Given the description of an element on the screen output the (x, y) to click on. 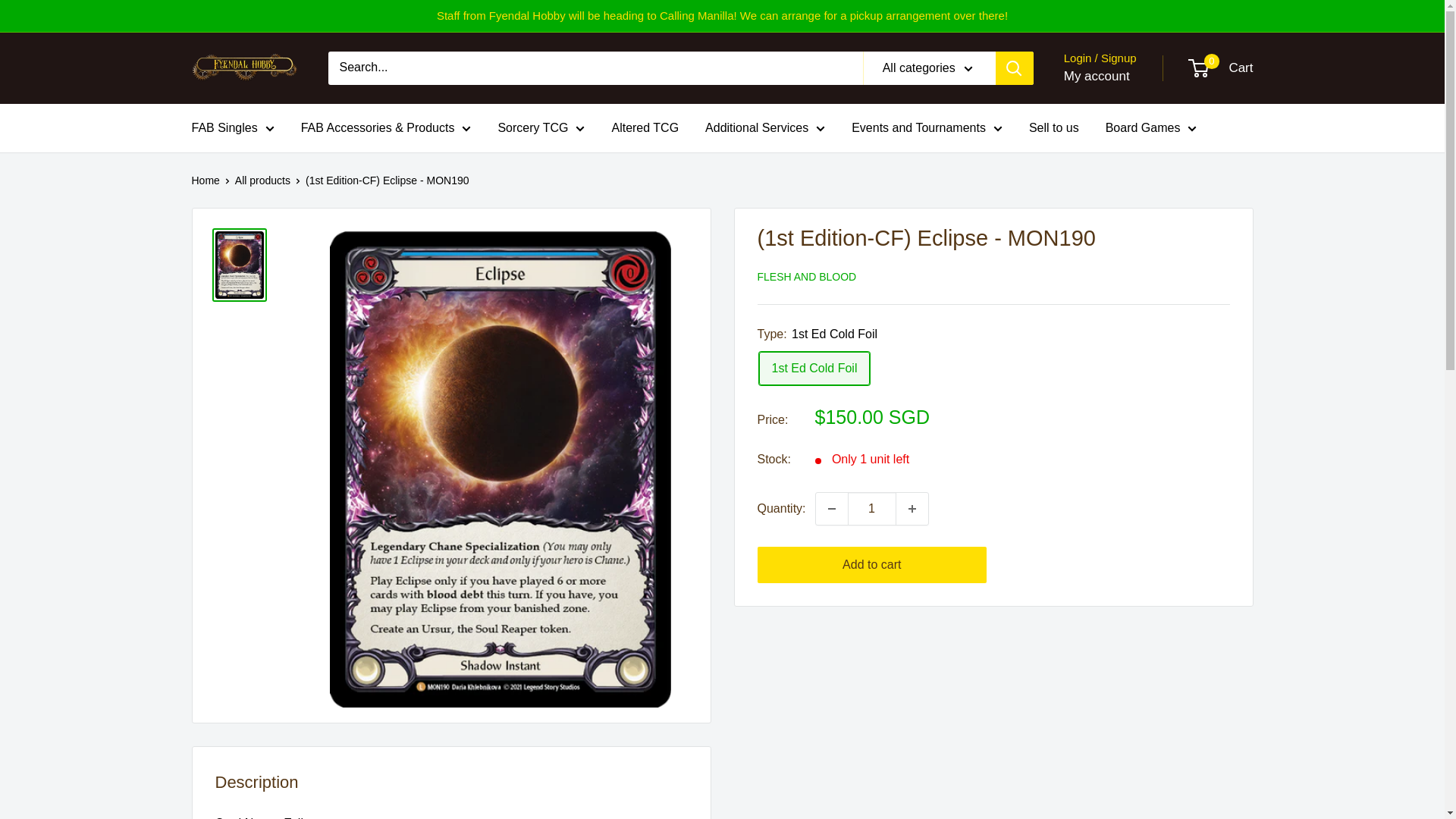
Increase quantity by 1 (912, 508)
1st Ed Cold Foil (813, 368)
1 (871, 508)
Decrease quantity by 1 (831, 508)
